Given the description of an element on the screen output the (x, y) to click on. 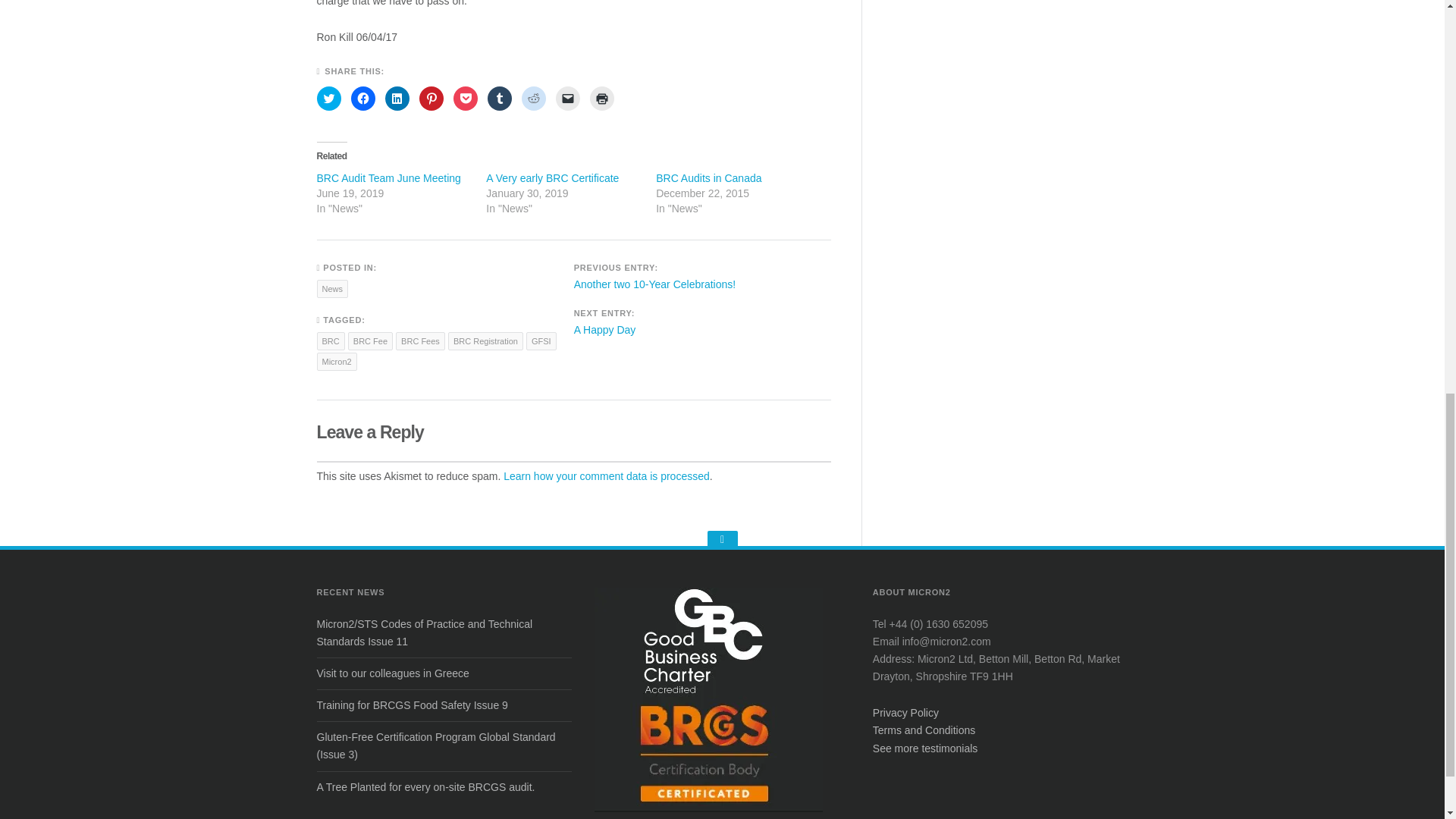
BRC Audit Team June Meeting (389, 177)
Click to print (601, 98)
BRC Audits in Canada (708, 177)
BRC Audit Team June Meeting (389, 177)
A Very early BRC Certificate (552, 177)
Click to share on Pinterest (430, 98)
News (333, 289)
BRC Audits in Canada (708, 177)
Click to share on LinkedIn (397, 98)
Click to share on Reddit (533, 98)
Click to email this to a friend (566, 98)
Click to share on Twitter (328, 98)
Click to share on Pocket (464, 98)
A Very early BRC Certificate (552, 177)
